Given the description of an element on the screen output the (x, y) to click on. 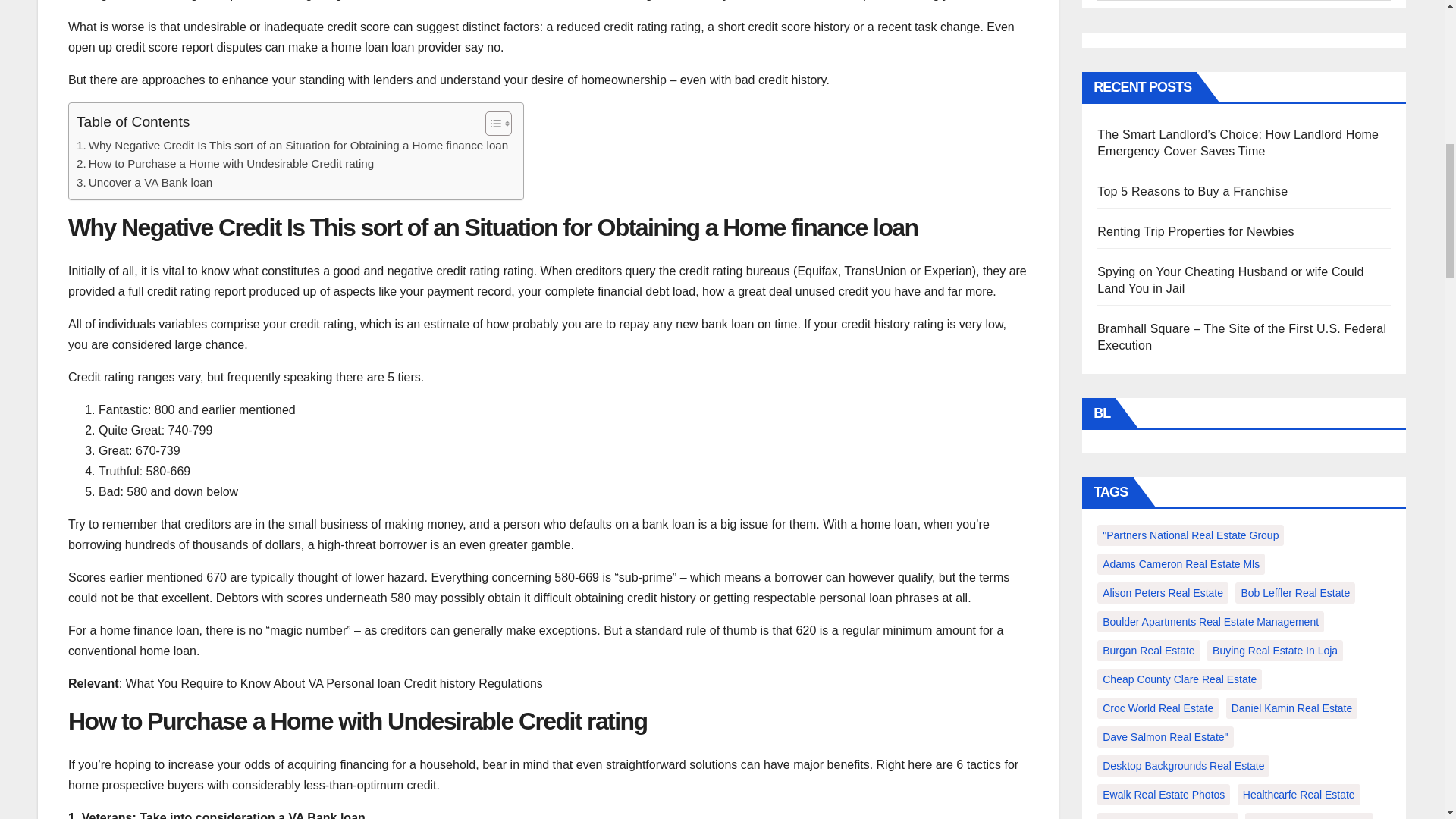
Uncover a VA Bank loan (144, 182)
How to Purchase a Home with Undesirable Credit rating (225, 163)
